Given the description of an element on the screen output the (x, y) to click on. 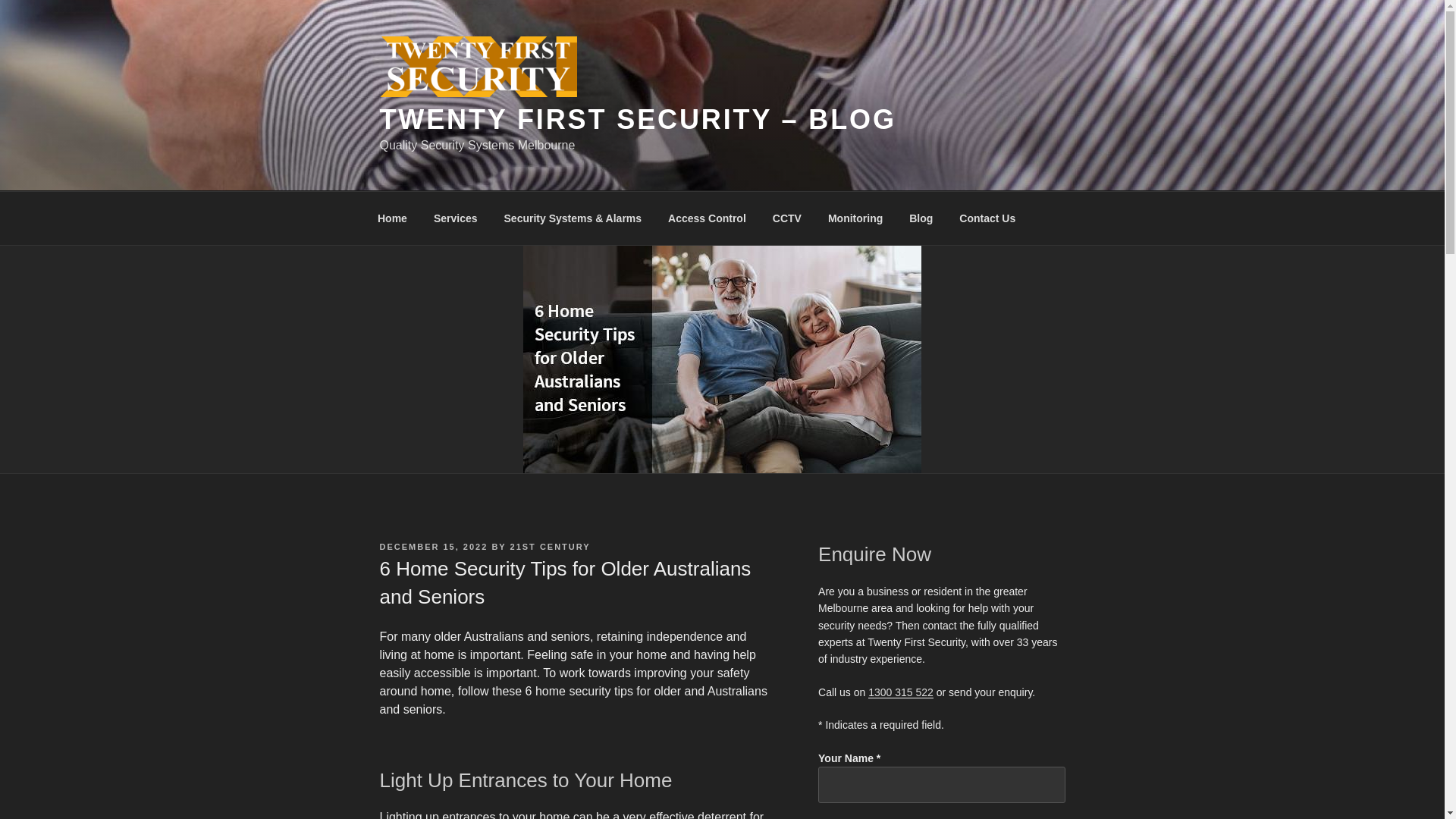
Services (455, 218)
21ST CENTURY (551, 546)
Access Control (707, 218)
Home (392, 218)
Contact Us (987, 218)
1300 315 522 (900, 692)
Monitoring (854, 218)
Blog (921, 218)
CCTV (785, 218)
DECEMBER 15, 2022 (432, 546)
